Given the description of an element on the screen output the (x, y) to click on. 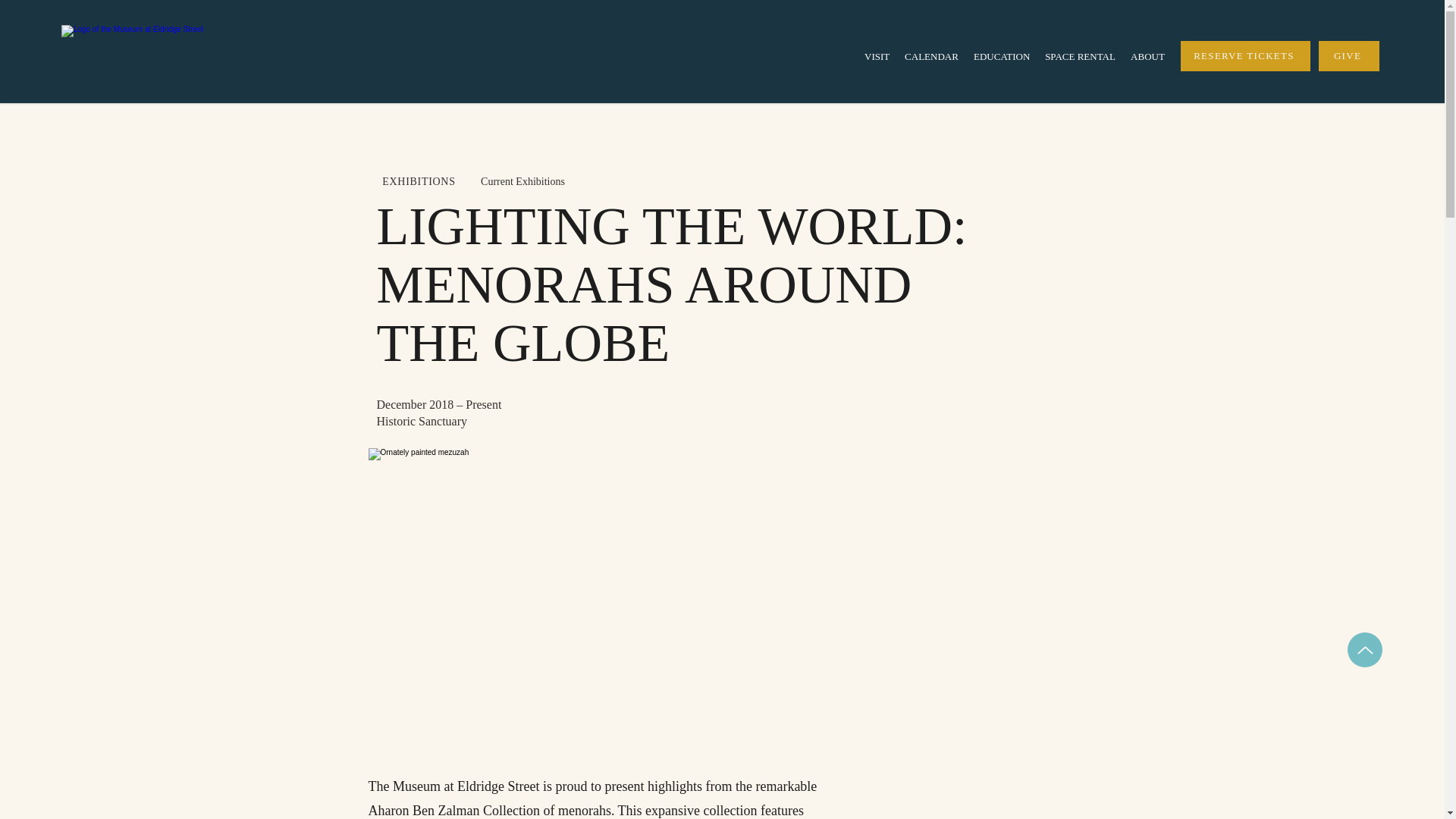
RESERVE TICKETS (1245, 55)
GIVE (1348, 55)
Current Exhibitions (522, 182)
EXHIBITIONS (419, 182)
